Given the description of an element on the screen output the (x, y) to click on. 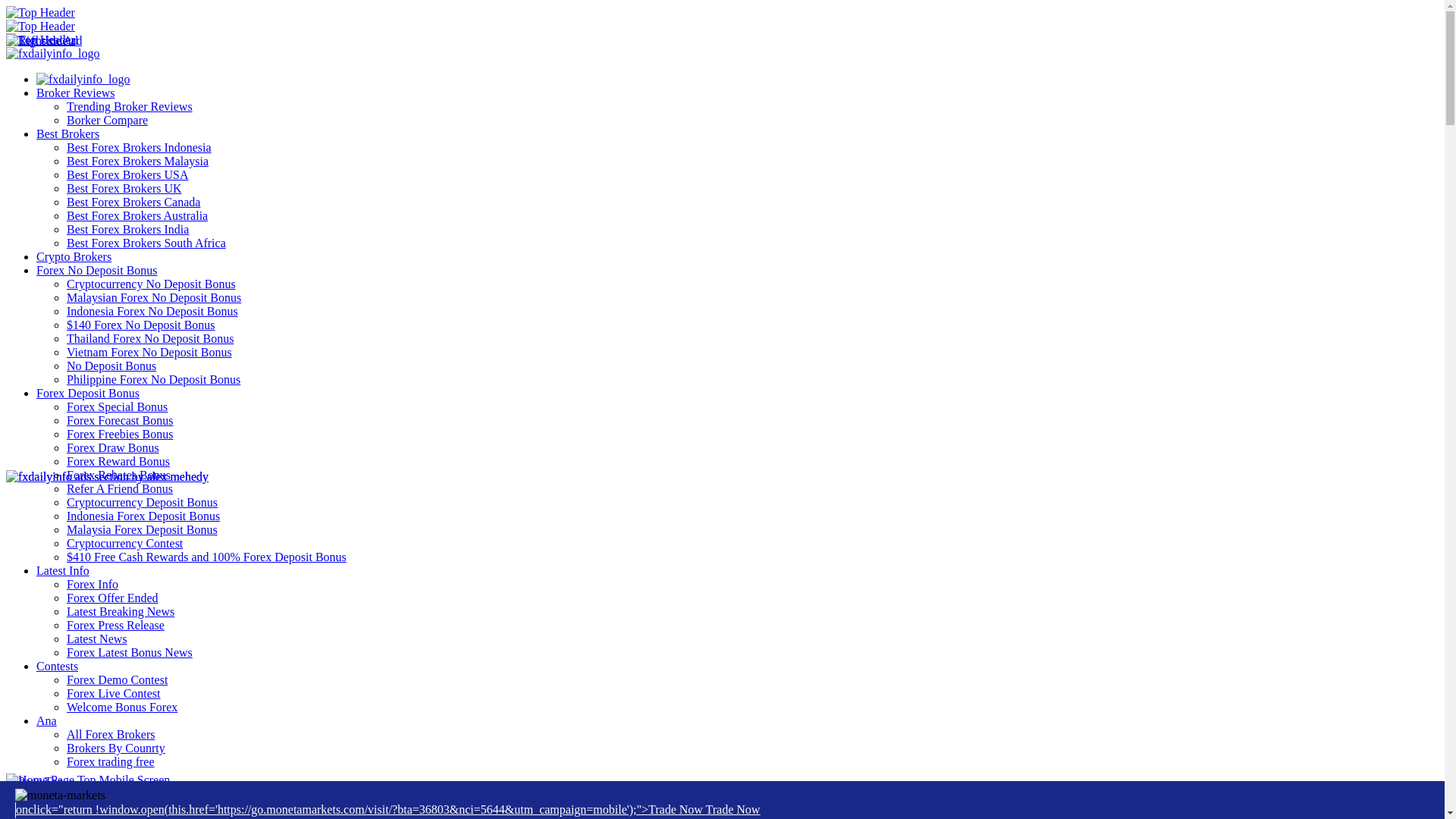
Indonesia Forex No Deposit Bonus (152, 310)
Broker Reviews (75, 92)
Vietnam Forex No Deposit Bonus (148, 351)
Best Brokers (67, 133)
Forex Deposit Bonus (87, 392)
Cryptocurrency Deposit Bonus (141, 502)
Best Forex Brokers Australia (137, 215)
Refer A Friend Bonus (119, 488)
Best Forex Brokers Canada (133, 201)
Best Forex Brokers South Africa (145, 242)
Best Forex Brokers UK (124, 187)
Borker Compare (107, 119)
Thailand Forex No Deposit Bonus (149, 338)
Malaysian Forex No Deposit Bonus (153, 297)
Forex Freebies Bonus (119, 433)
